Given the description of an element on the screen output the (x, y) to click on. 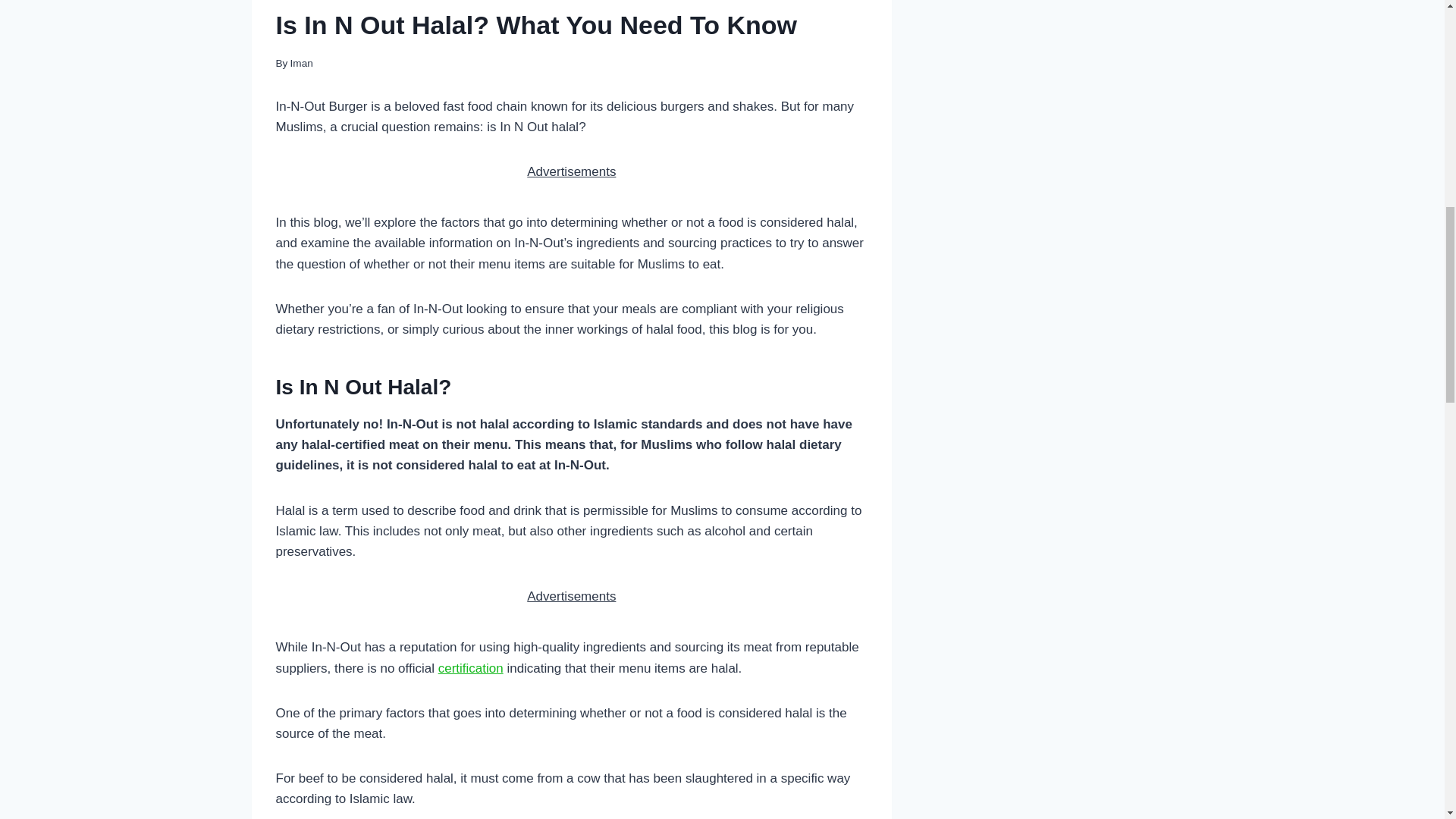
Iman (301, 62)
certification (470, 667)
